Given the description of an element on the screen output the (x, y) to click on. 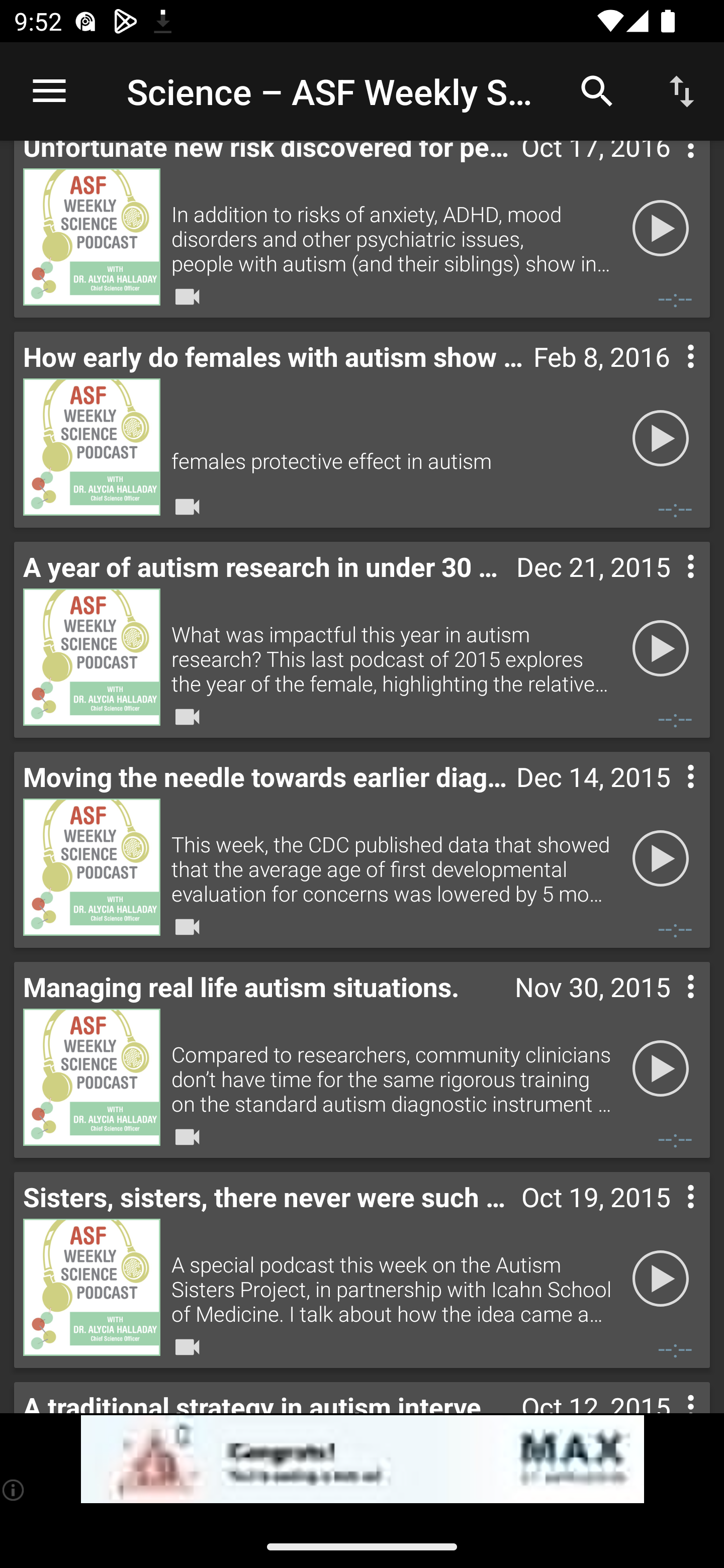
Open navigation sidebar (49, 91)
Search (597, 90)
Sort (681, 90)
Play (660, 227)
Contextual menu (668, 376)
Play (660, 437)
Contextual menu (668, 586)
Play (660, 647)
Contextual menu (668, 796)
Play (660, 858)
Contextual menu (668, 1006)
Play (660, 1068)
Contextual menu (668, 1217)
Play (660, 1278)
app-monetization (362, 1459)
(i) (14, 1489)
